Given the description of an element on the screen output the (x, y) to click on. 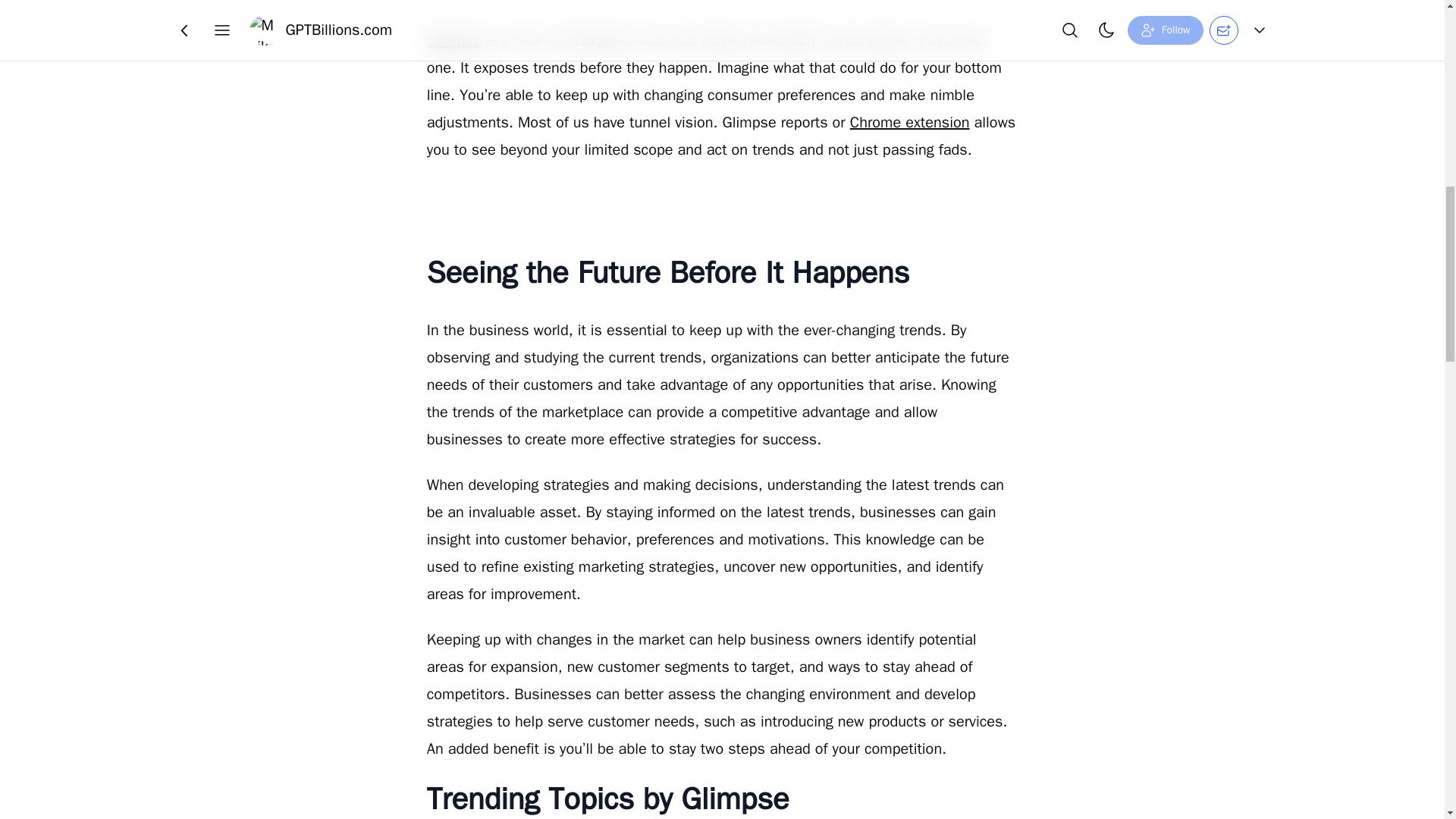
Add Bookmark (721, 24)
Glimpse (453, 40)
Chrome extension (909, 122)
